Given the description of an element on the screen output the (x, y) to click on. 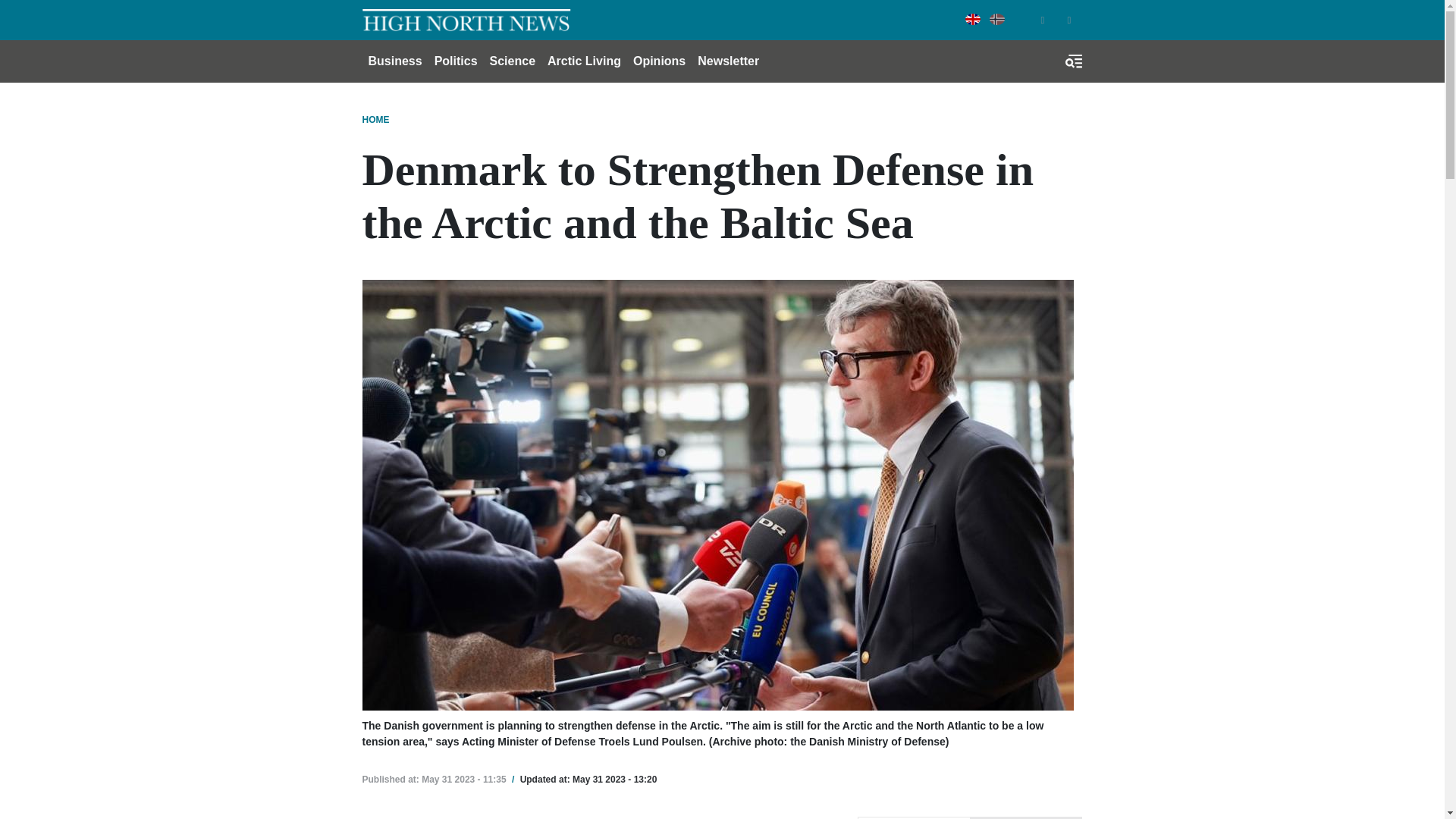
Home (466, 19)
Politics (455, 60)
Newsletter (728, 60)
HOME (376, 119)
Science (512, 60)
Arctic Living (584, 60)
LATEST (1025, 818)
Opinions (659, 60)
